Given the description of an element on the screen output the (x, y) to click on. 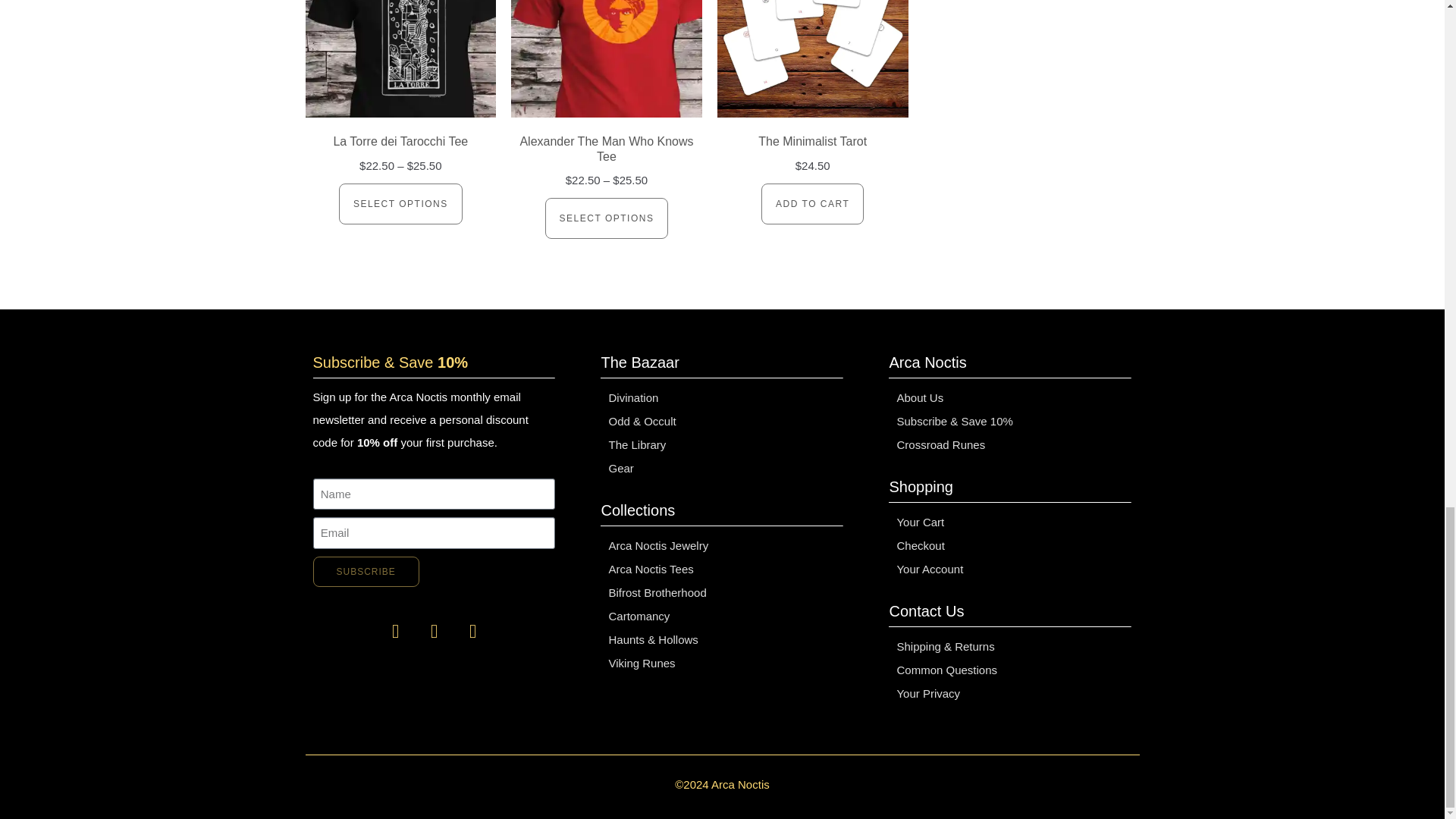
SELECT OPTIONS (606, 218)
ADD TO CART (812, 204)
SELECT OPTIONS (401, 204)
